Given the description of an element on the screen output the (x, y) to click on. 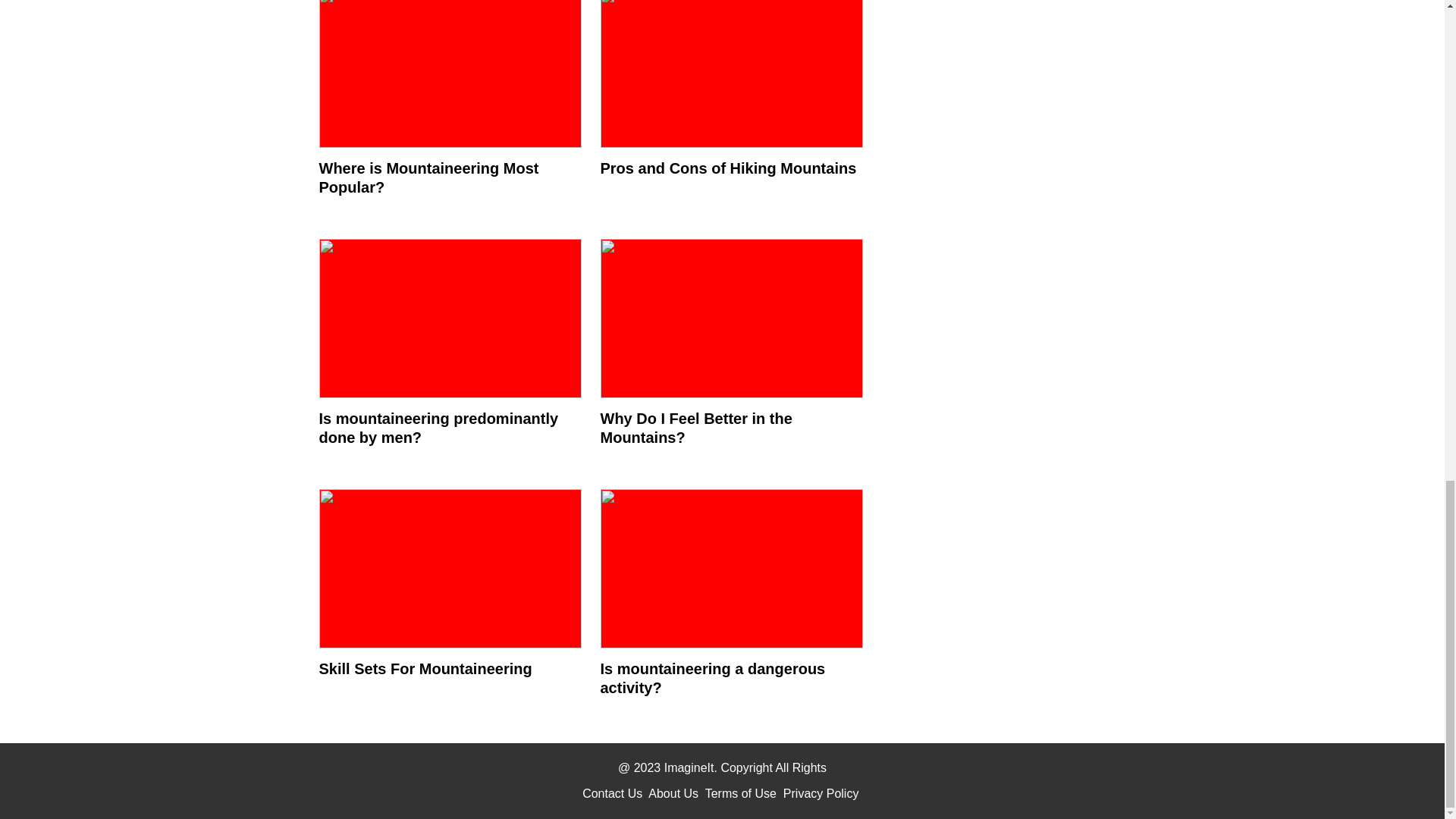
Terms of Use (740, 793)
Contact Us (612, 793)
Privacy Policy (821, 793)
About Us (672, 793)
